Given the description of an element on the screen output the (x, y) to click on. 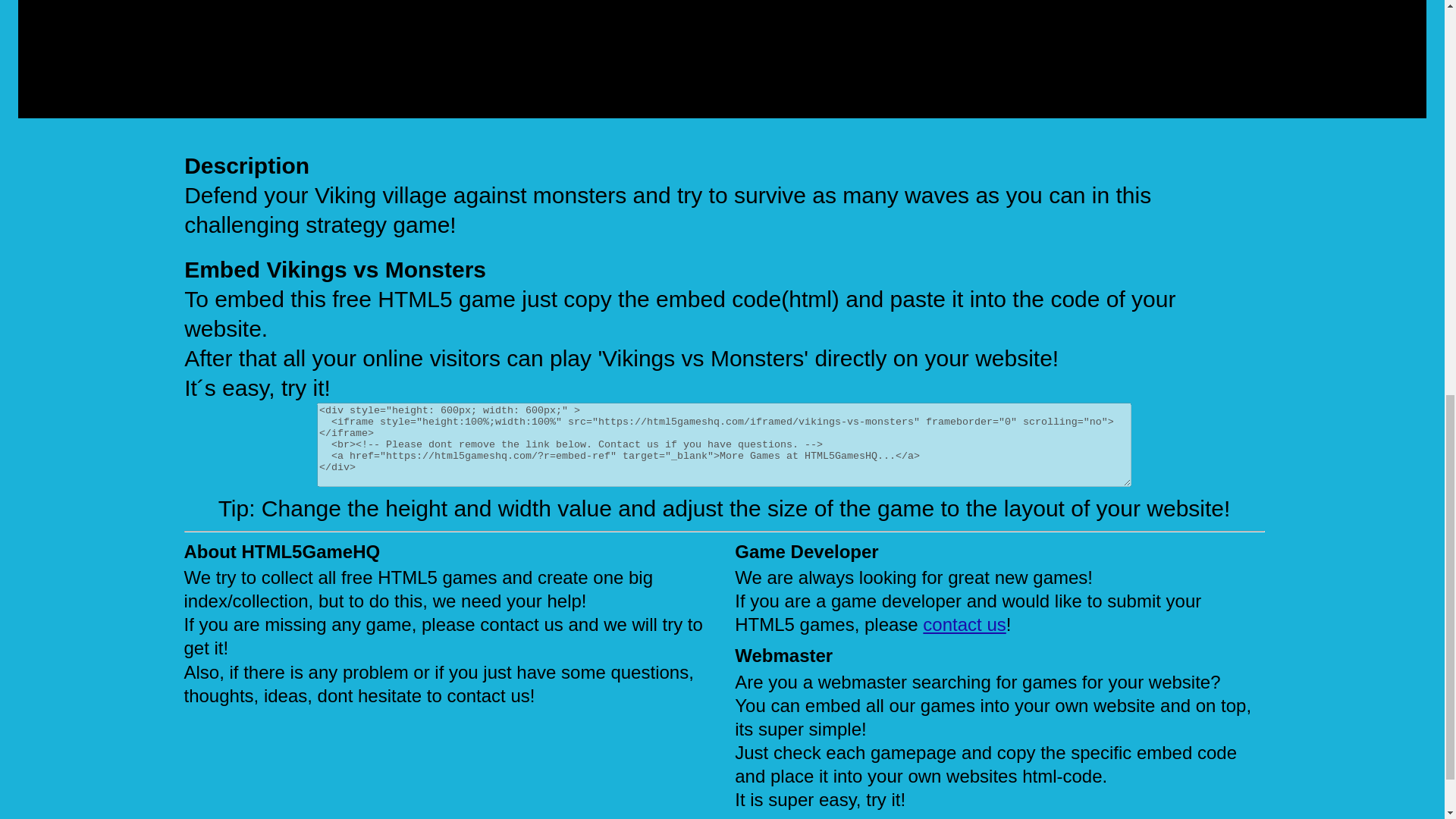
contact us (964, 624)
